Given the description of an element on the screen output the (x, y) to click on. 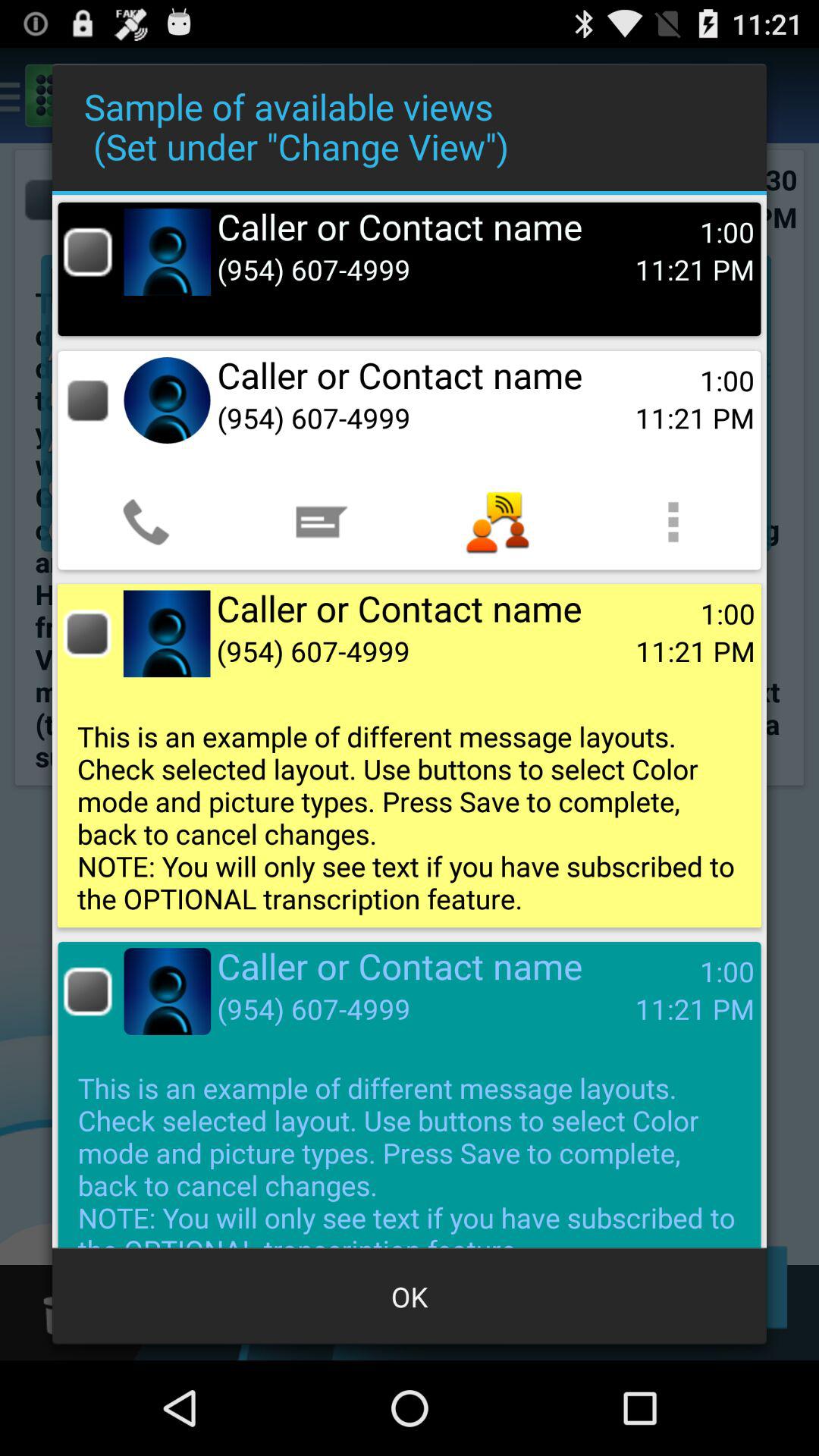
select caller (87, 252)
